Given the description of an element on the screen output the (x, y) to click on. 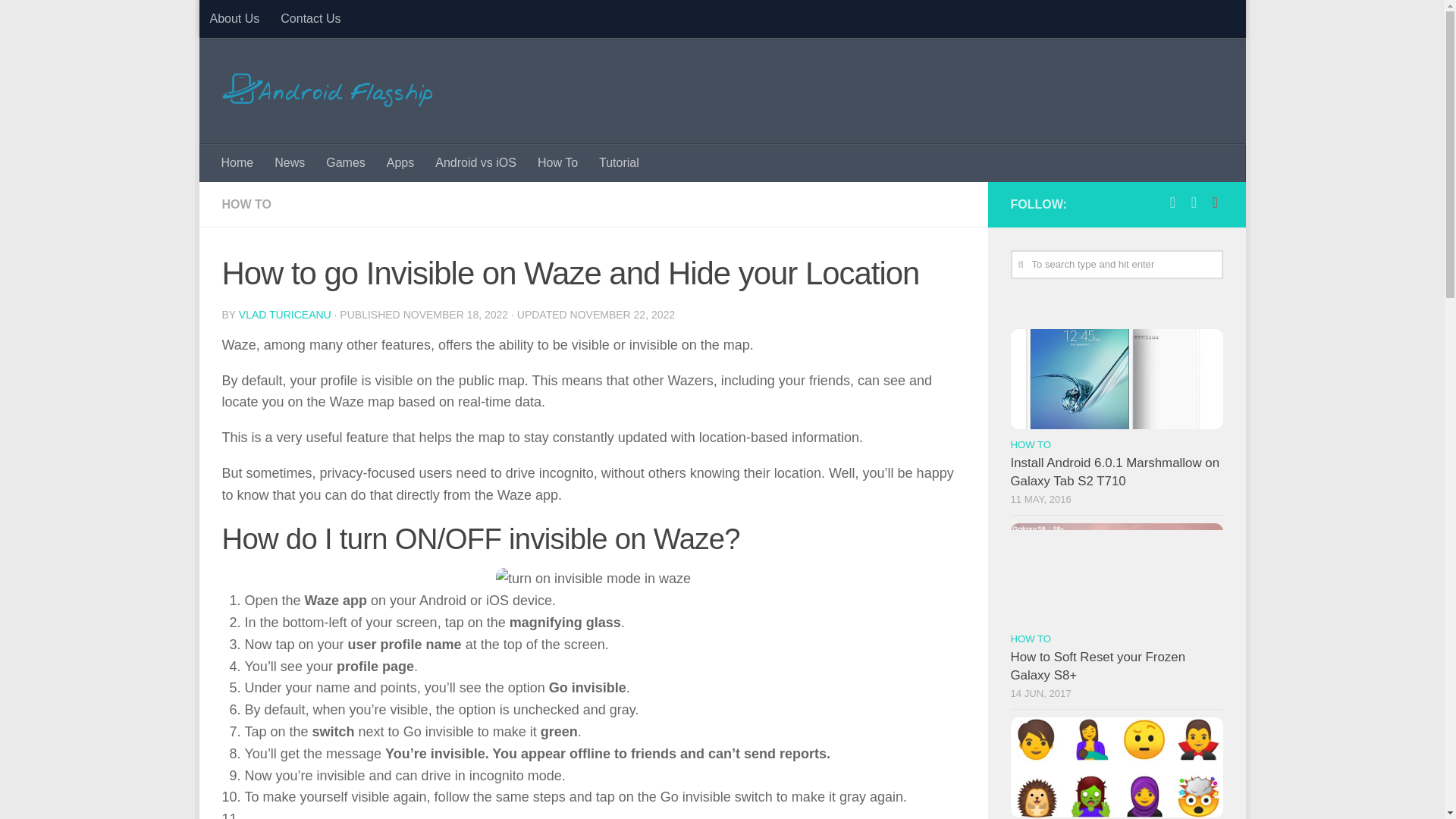
To search type and hit enter (1116, 264)
Apps (400, 162)
News (289, 162)
HOW TO (245, 204)
To search type and hit enter (1116, 264)
Android vs iOS (476, 162)
Follow us on Twitter (1193, 201)
VLAD TURICEANU (284, 314)
Home (237, 162)
Tutorial (618, 162)
Follow us on Email-o (1215, 201)
How To (557, 162)
Follow us on Facebook (1171, 201)
Posts by Vlad Turiceanu (284, 314)
Games (345, 162)
